Given the description of an element on the screen output the (x, y) to click on. 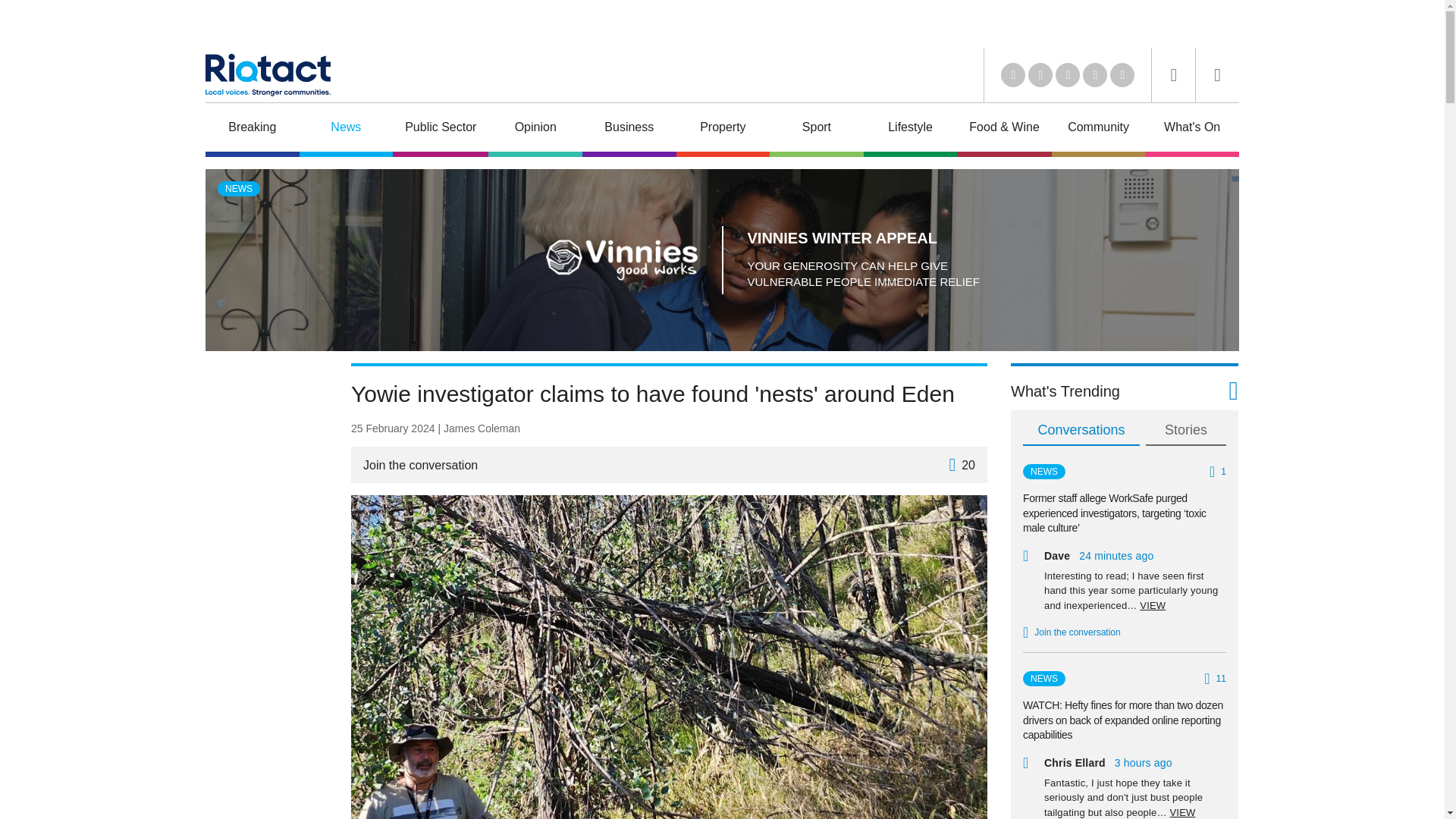
News (346, 130)
Youtube (1067, 74)
LinkedIn (1013, 74)
Login to Riotact (1217, 75)
Search the website (1173, 75)
Breaking (252, 130)
Instagram (1121, 74)
3rd party ad content (265, 590)
Riotact Home (267, 75)
Facebook (1094, 74)
Twitter (1039, 74)
